Given the description of an element on the screen output the (x, y) to click on. 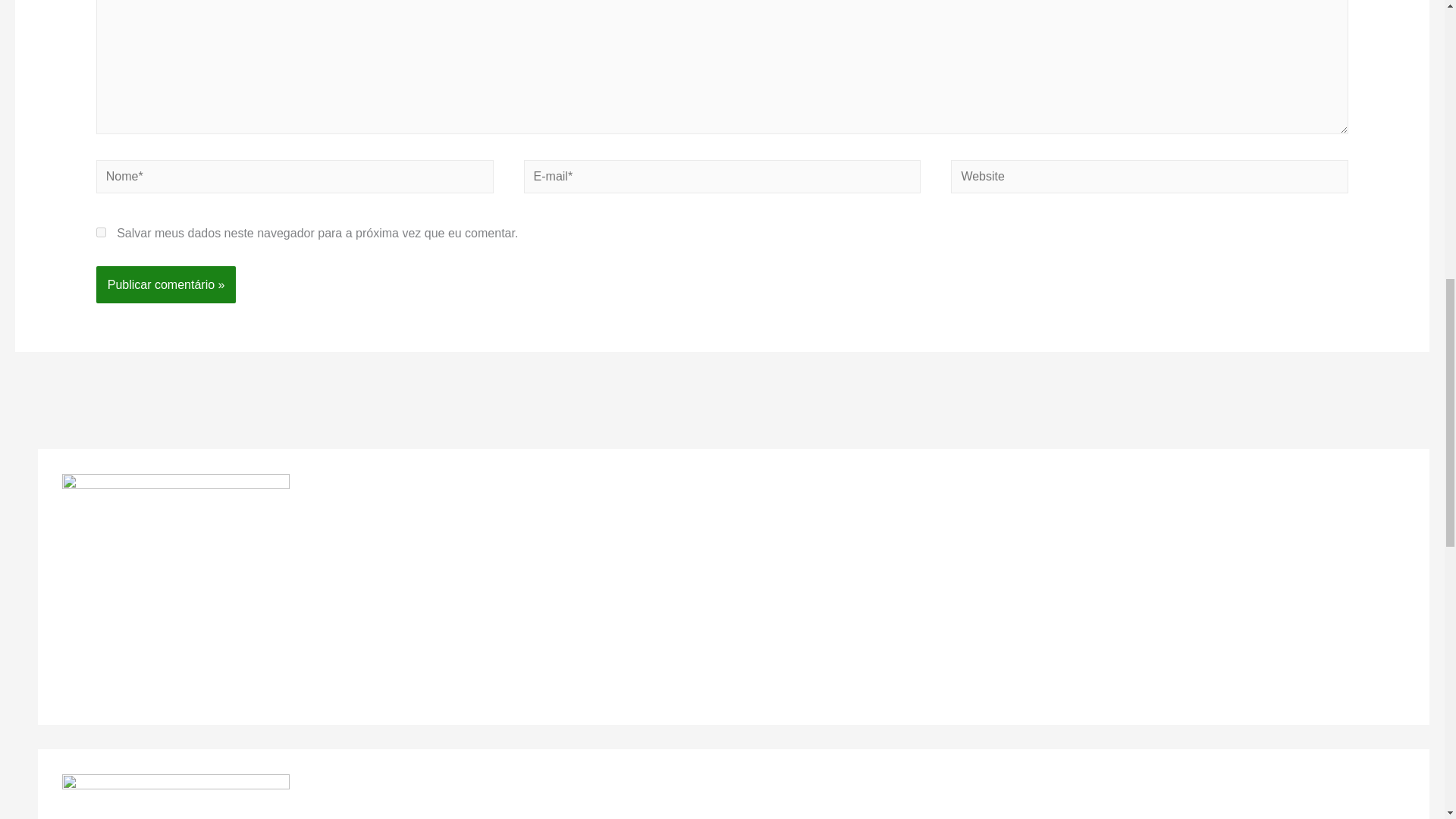
yes (101, 232)
